Given the description of an element on the screen output the (x, y) to click on. 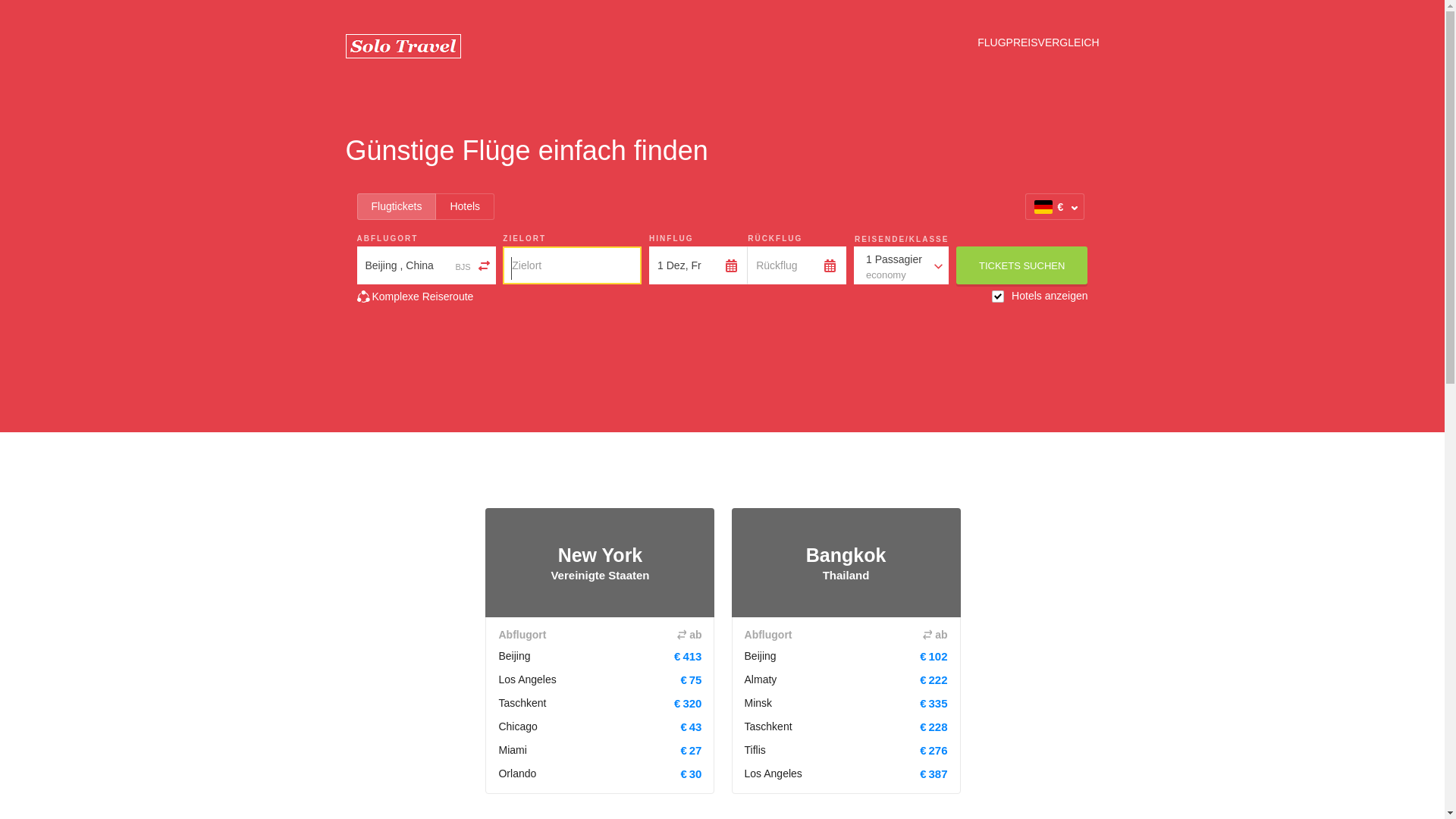
TICKETS SUCHEN Element type: text (1022, 265)
FLUGPREISVERGLEICH Element type: text (1037, 42)
